Given the description of an element on the screen output the (x, y) to click on. 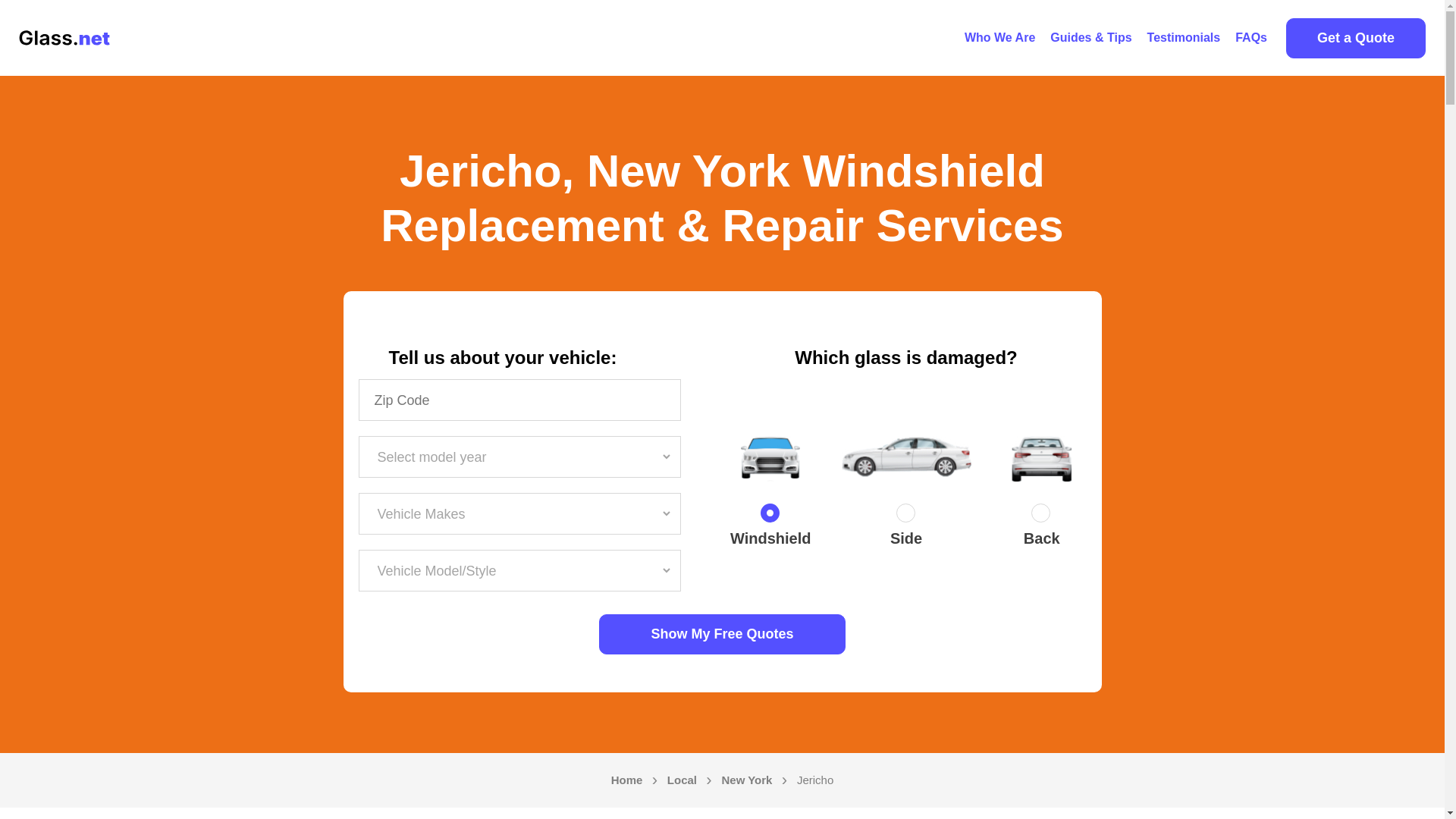
How to Choose Auto Glass (1090, 37)
front (770, 516)
Show My Free Quotes (721, 634)
Home (627, 780)
Testimonials (1184, 37)
back (1041, 516)
A Market Place for Car Glass (999, 37)
side (905, 516)
New York (745, 780)
Testimonials (1184, 37)
